Given the description of an element on the screen output the (x, y) to click on. 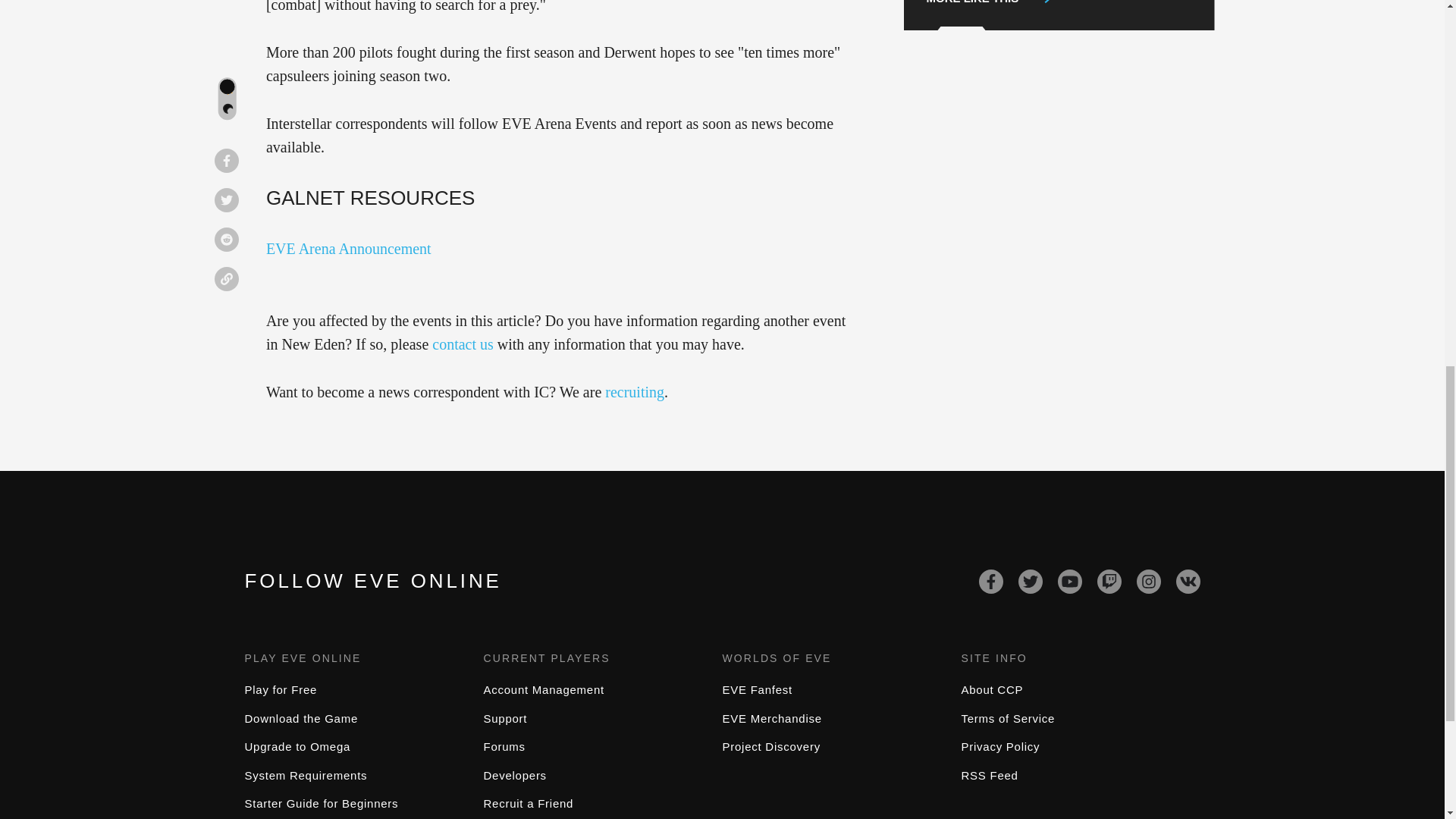
Support (505, 717)
recruiting (634, 392)
Upgrade to Omega (297, 746)
Starter Guide for Beginners (320, 802)
Facebook (990, 581)
Twitch (1108, 581)
Account Management (543, 689)
Twitter (1029, 581)
Instagram (1147, 581)
Developers (515, 775)
